Given the description of an element on the screen output the (x, y) to click on. 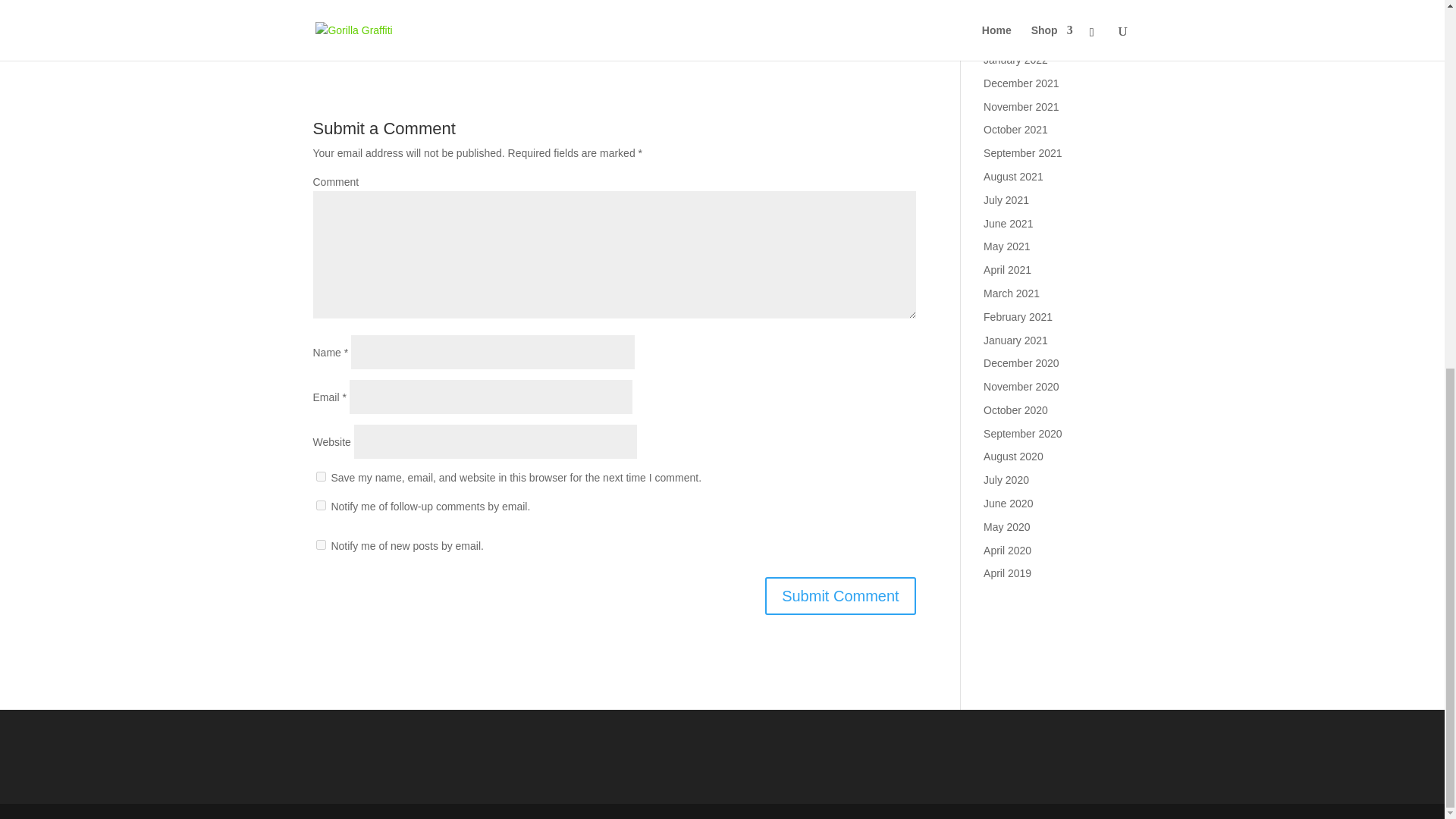
July 2022 (1006, 36)
Submit Comment (840, 596)
December 2021 (1021, 82)
January 2022 (1016, 60)
November 2022 (1021, 12)
subscribe (319, 505)
Submit Comment (840, 596)
yes (319, 476)
subscribe (319, 544)
